Given the description of an element on the screen output the (x, y) to click on. 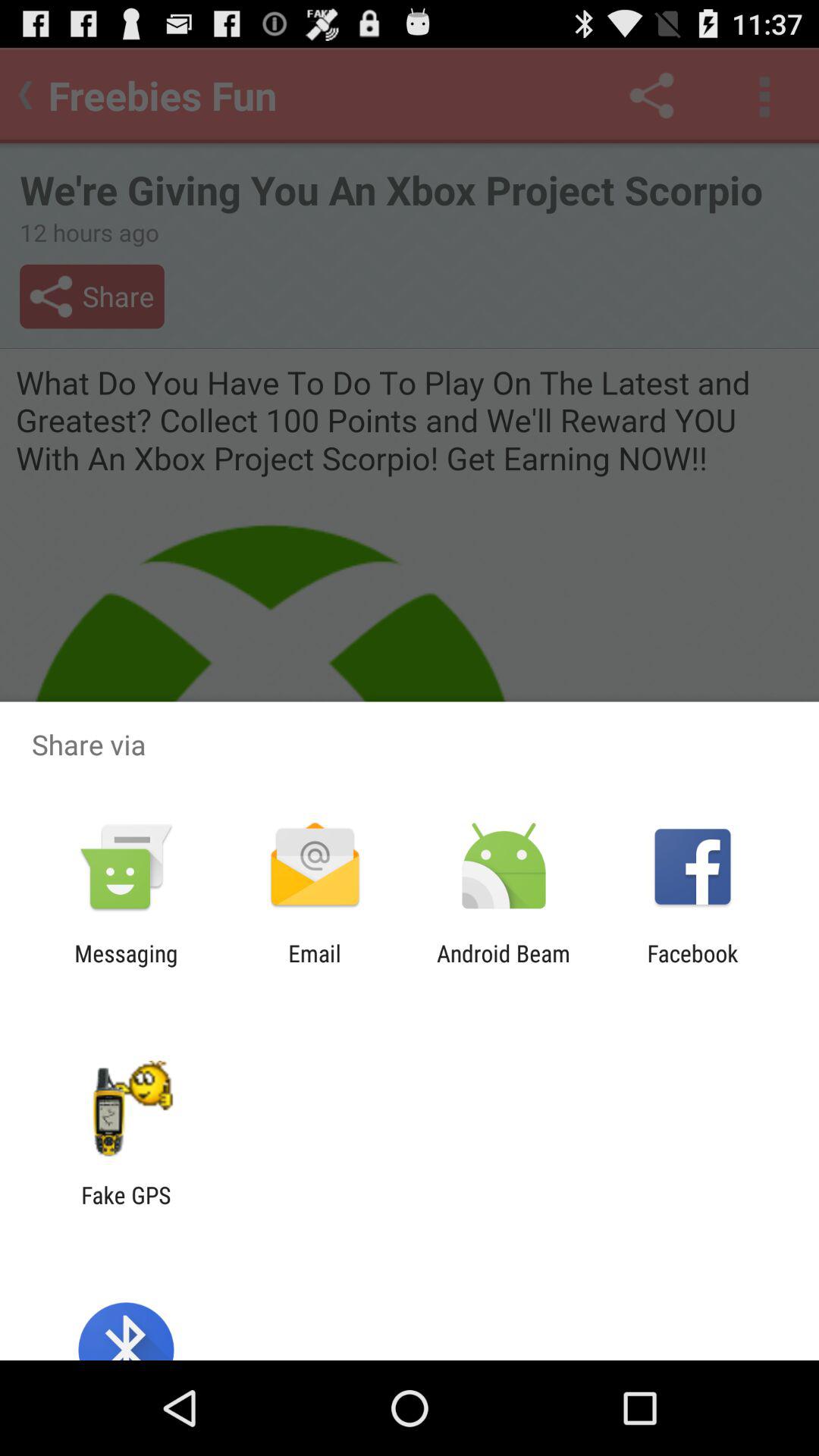
choose icon next to email icon (503, 966)
